Given the description of an element on the screen output the (x, y) to click on. 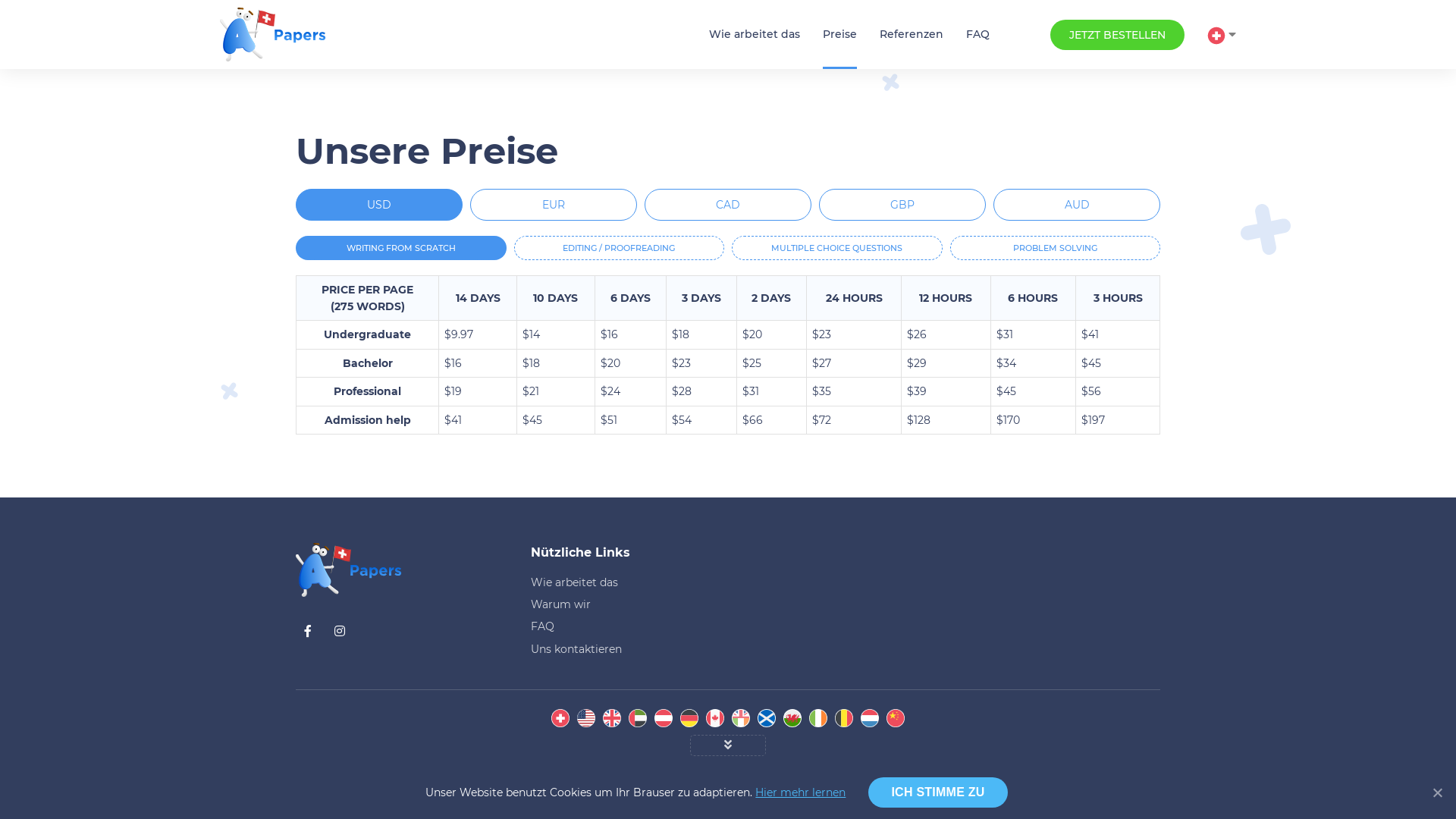
Uns kontaktieren Element type: text (603, 648)
Wie arbeitet das Element type: text (754, 34)
FAQ Element type: text (977, 34)
APapers.ch Element type: hover (272, 34)
Hier mehr lernen Element type: text (800, 792)
USD Element type: text (378, 204)
Wie arbeitet das Element type: text (603, 582)
ICH STIMME ZU Element type: text (937, 792)
FAQ Element type: text (603, 626)
Select language... Element type: hover (1221, 34)
Preise Element type: text (839, 34)
GBP Element type: text (902, 204)
AUD Element type: text (1076, 204)
JETZT BESTELLEN Element type: text (1117, 34)
EUR Element type: text (553, 204)
Follow us at Instagram Element type: hover (339, 631)
APapers.ch Element type: hover (348, 569)
Referenzen Element type: text (911, 34)
Warum wir Element type: text (603, 604)
Follow us at Facebook Element type: hover (307, 631)
CAD Element type: text (727, 204)
